Given the description of an element on the screen output the (x, y) to click on. 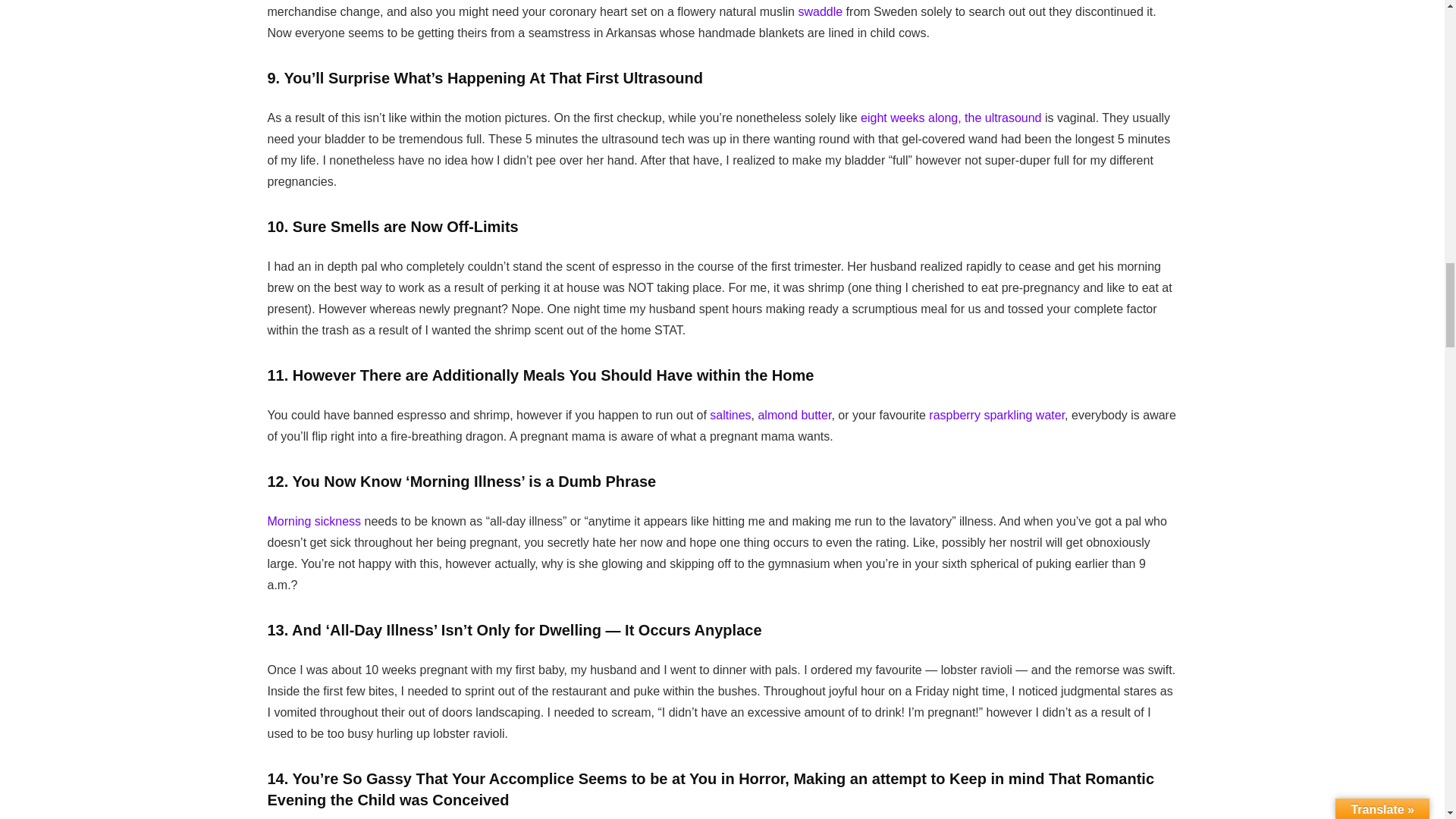
saltines (730, 414)
eight weeks along, the ultrasound (950, 117)
almond butter (794, 414)
swaddle (820, 11)
